Given the description of an element on the screen output the (x, y) to click on. 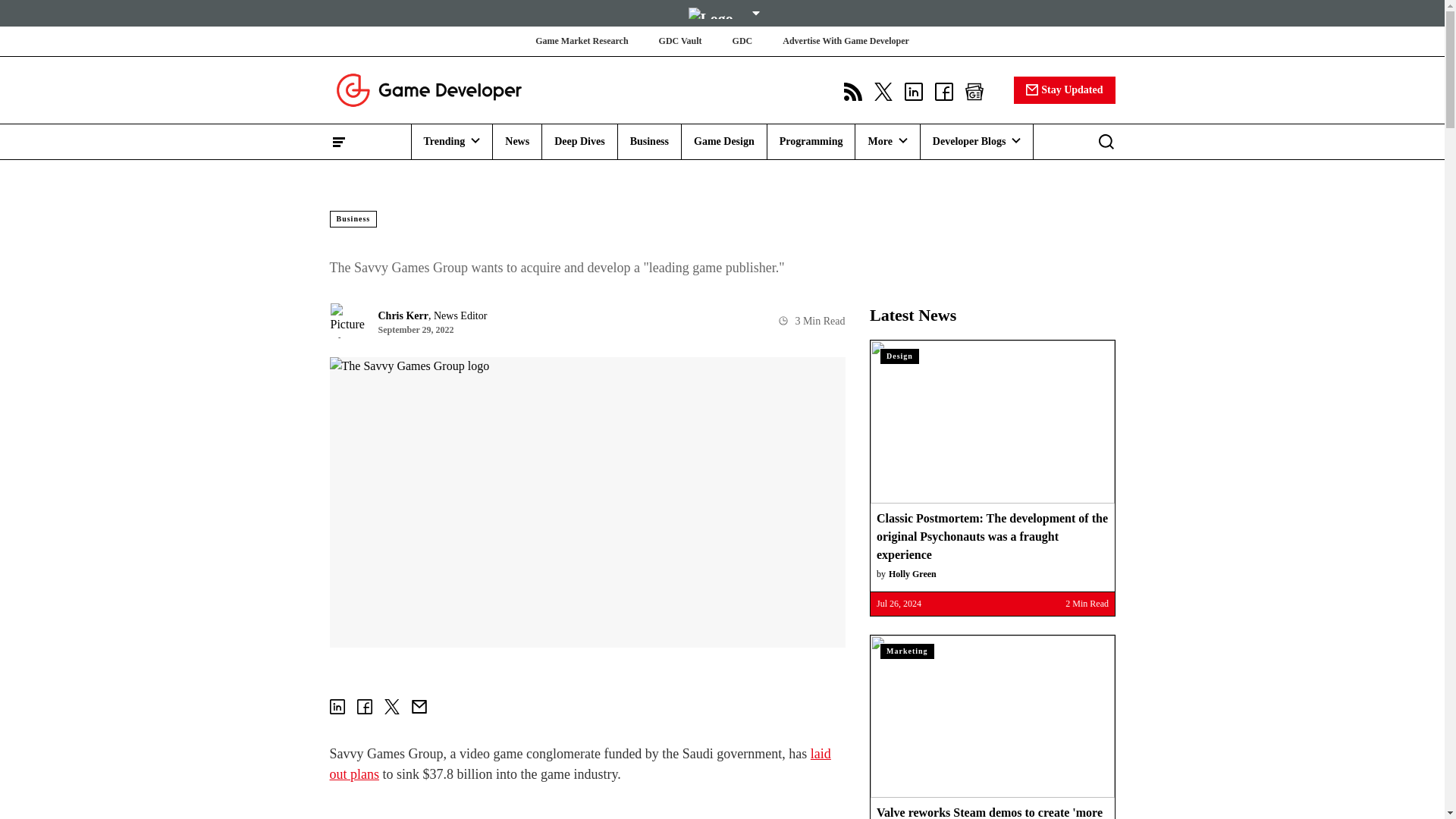
GDC Vault (680, 41)
Advertise With Game Developer (845, 41)
Programming (810, 141)
Game Developer Logo (428, 90)
Stay Updated (1064, 89)
Business (649, 141)
GDC (742, 41)
Game Market Research (581, 41)
News (517, 141)
Picture of Chris Kerr (347, 320)
Game Design (724, 141)
Deep Dives (579, 141)
